Given the description of an element on the screen output the (x, y) to click on. 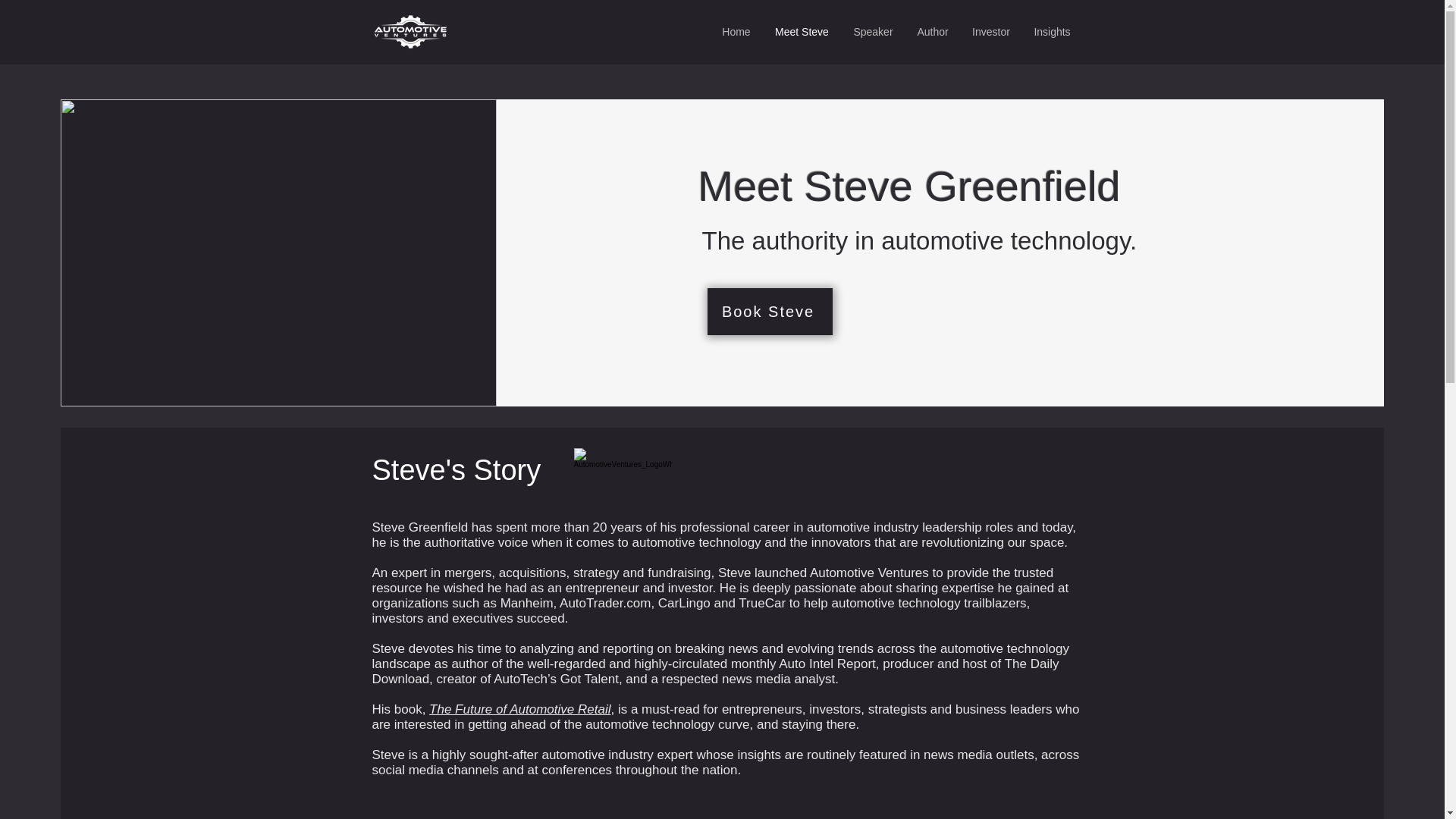
The Future of Automotive Retail (519, 708)
Speaker (873, 31)
Home (735, 31)
Investor (990, 31)
Book Steve (769, 311)
Insights (1052, 31)
Author (932, 31)
Meet Steve (801, 31)
